Given the description of an element on the screen output the (x, y) to click on. 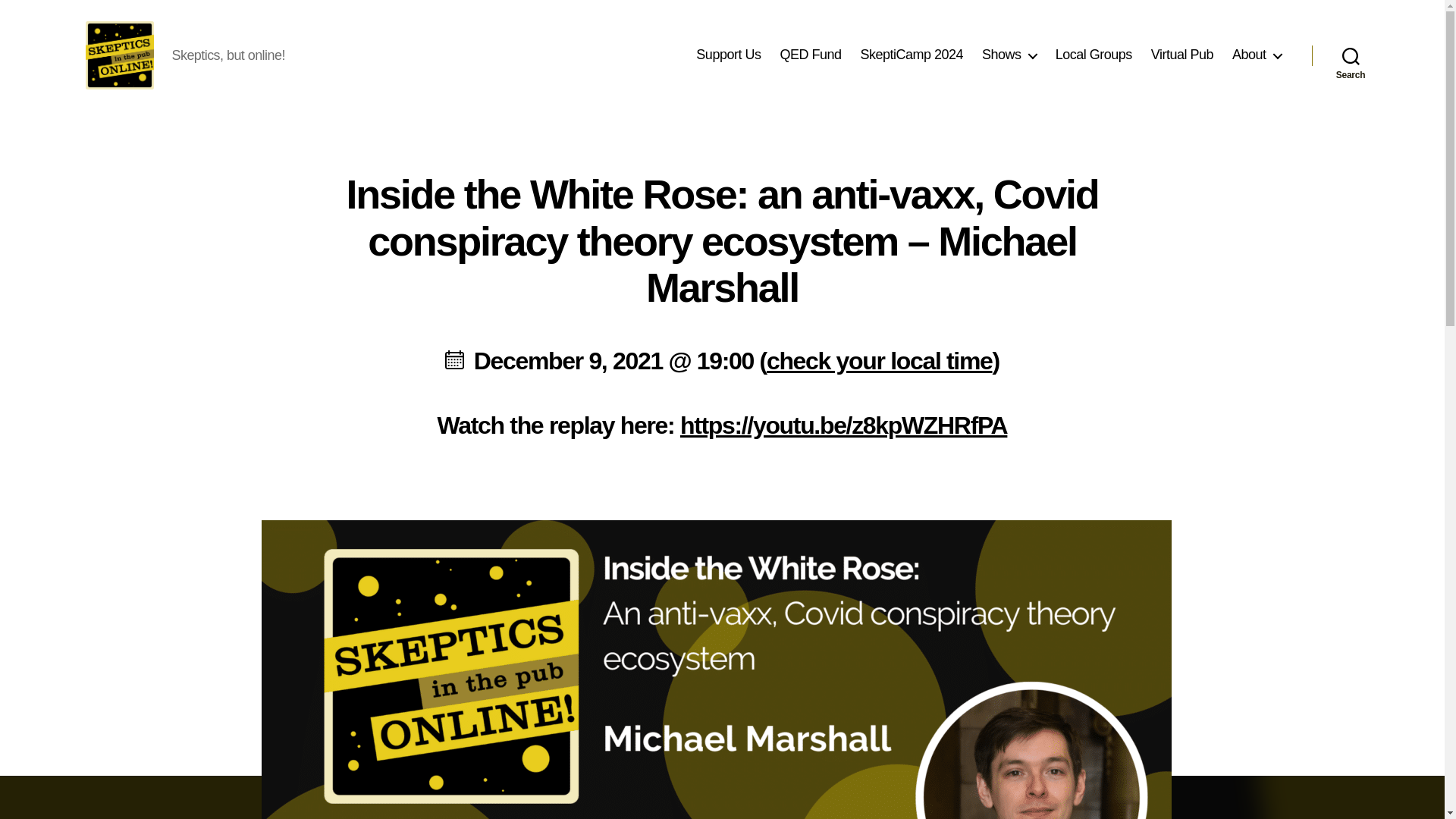
See all past and future shows (1008, 54)
SkeptiCamp 2024 (911, 54)
Shows (1008, 54)
QED Fund (809, 54)
Virtual Pub (1181, 54)
Support Us (727, 54)
Local Groups (1093, 54)
Search (1350, 55)
About (1256, 54)
All about SitPO (1256, 54)
